Given the description of an element on the screen output the (x, y) to click on. 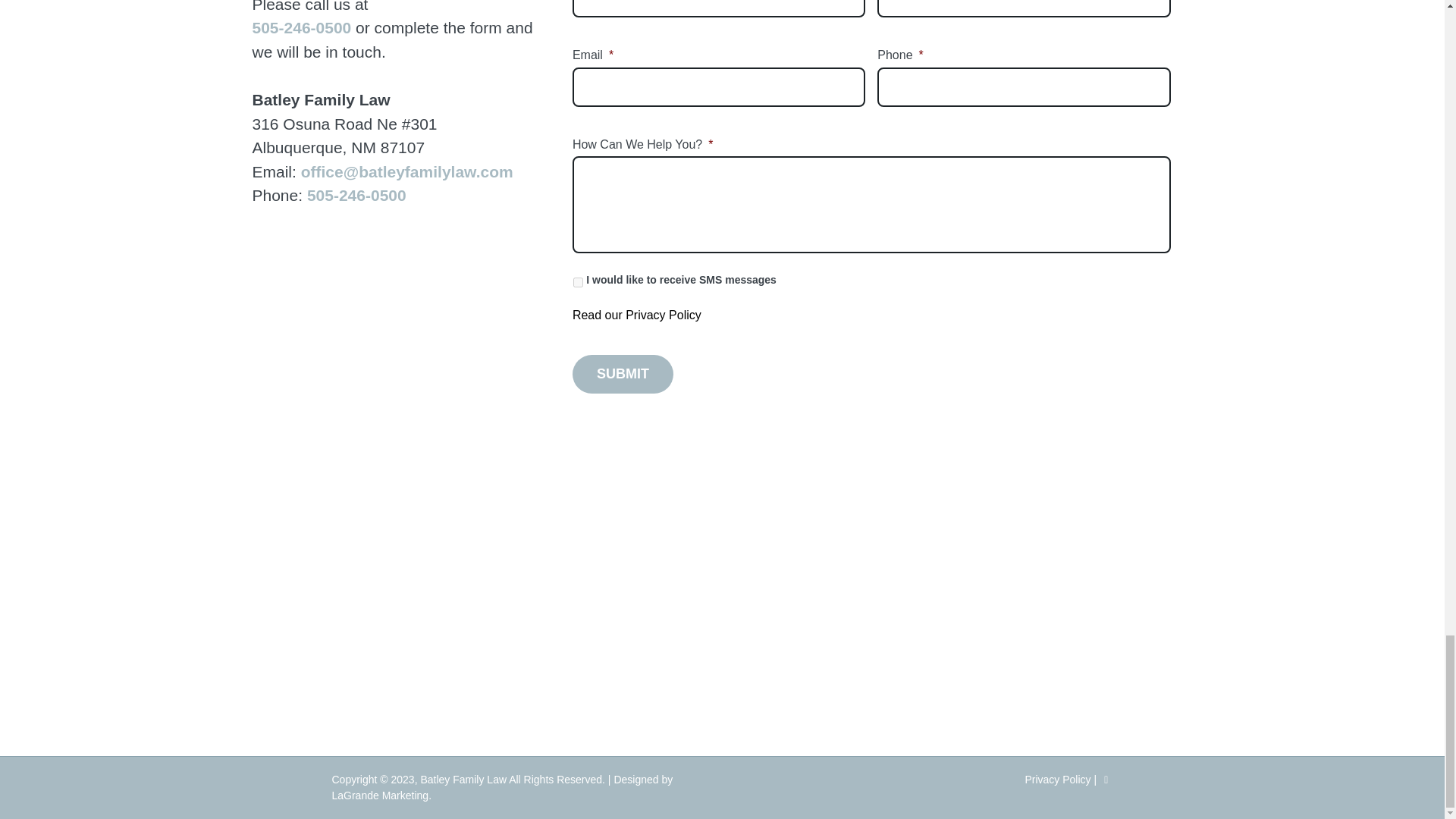
SUBMIT (622, 373)
I would like to receive SMS messages (578, 282)
